Given the description of an element on the screen output the (x, y) to click on. 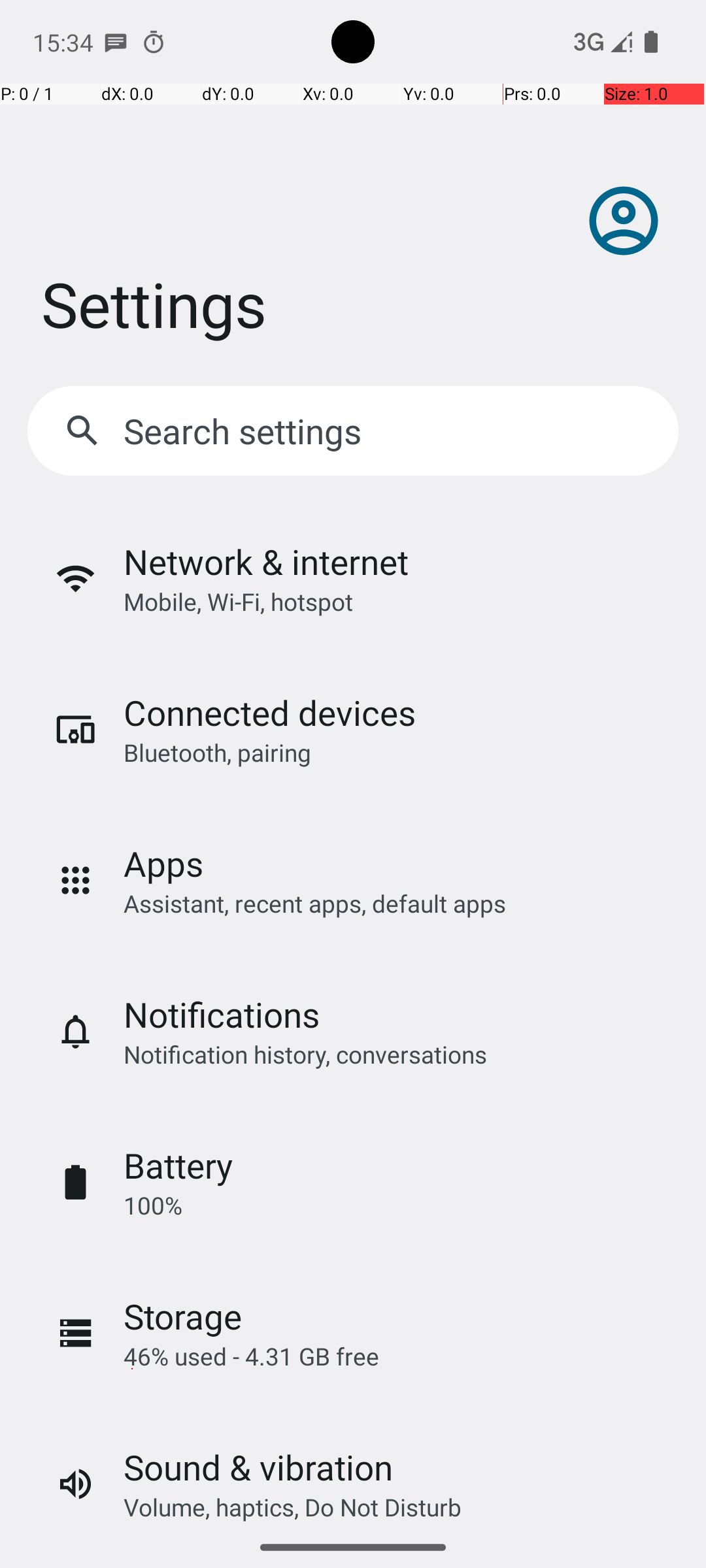
46% used - 4.31 GB free Element type: android.widget.TextView (251, 1355)
